Given the description of an element on the screen output the (x, y) to click on. 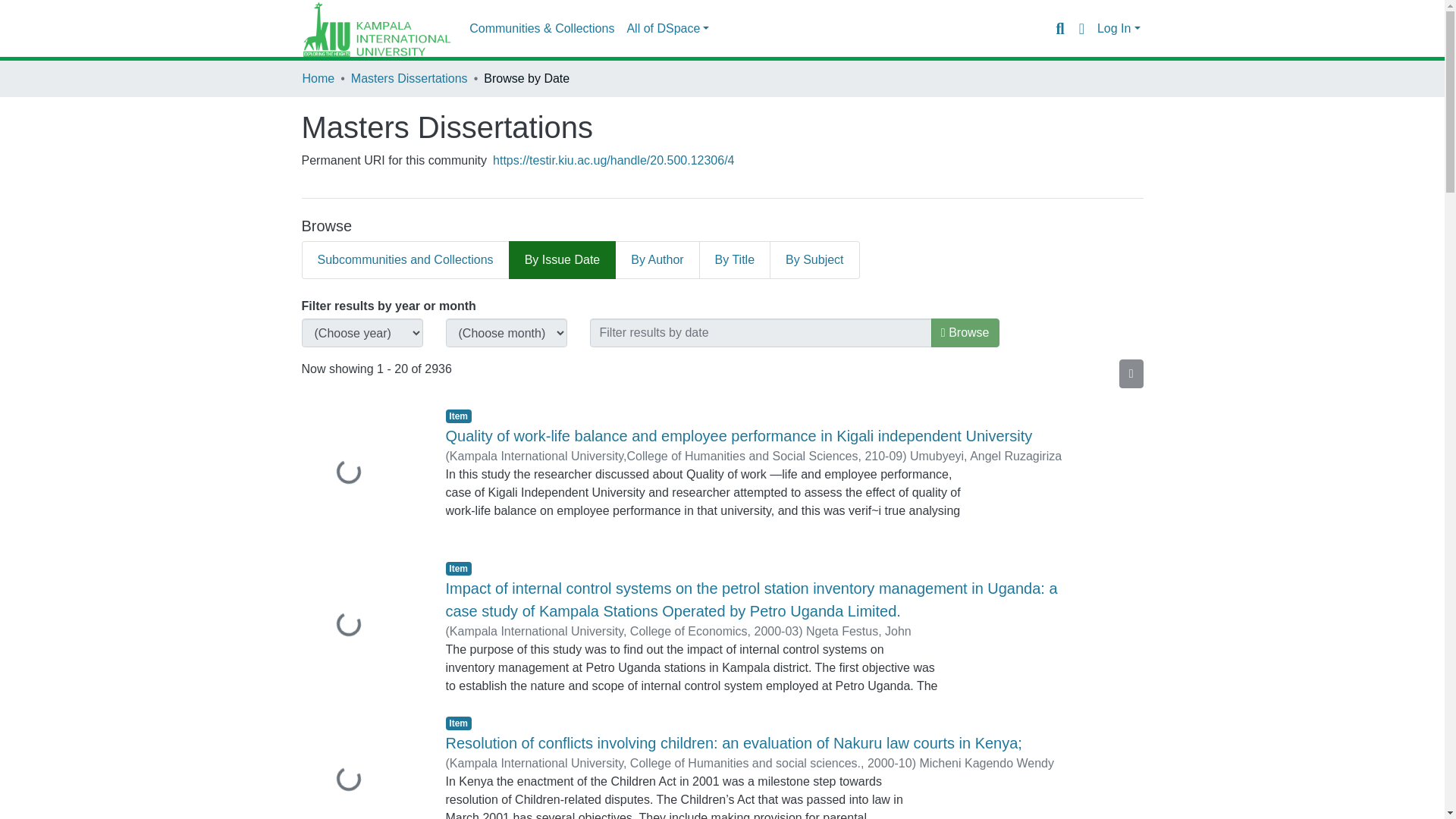
By Author (656, 259)
All of DSpace (667, 28)
By Title (735, 259)
Loading... (362, 473)
By Issue Date (561, 259)
Language switch (1081, 28)
Home (317, 78)
Subcommunities and Collections (405, 259)
Masters Dissertations (408, 78)
